Given the description of an element on the screen output the (x, y) to click on. 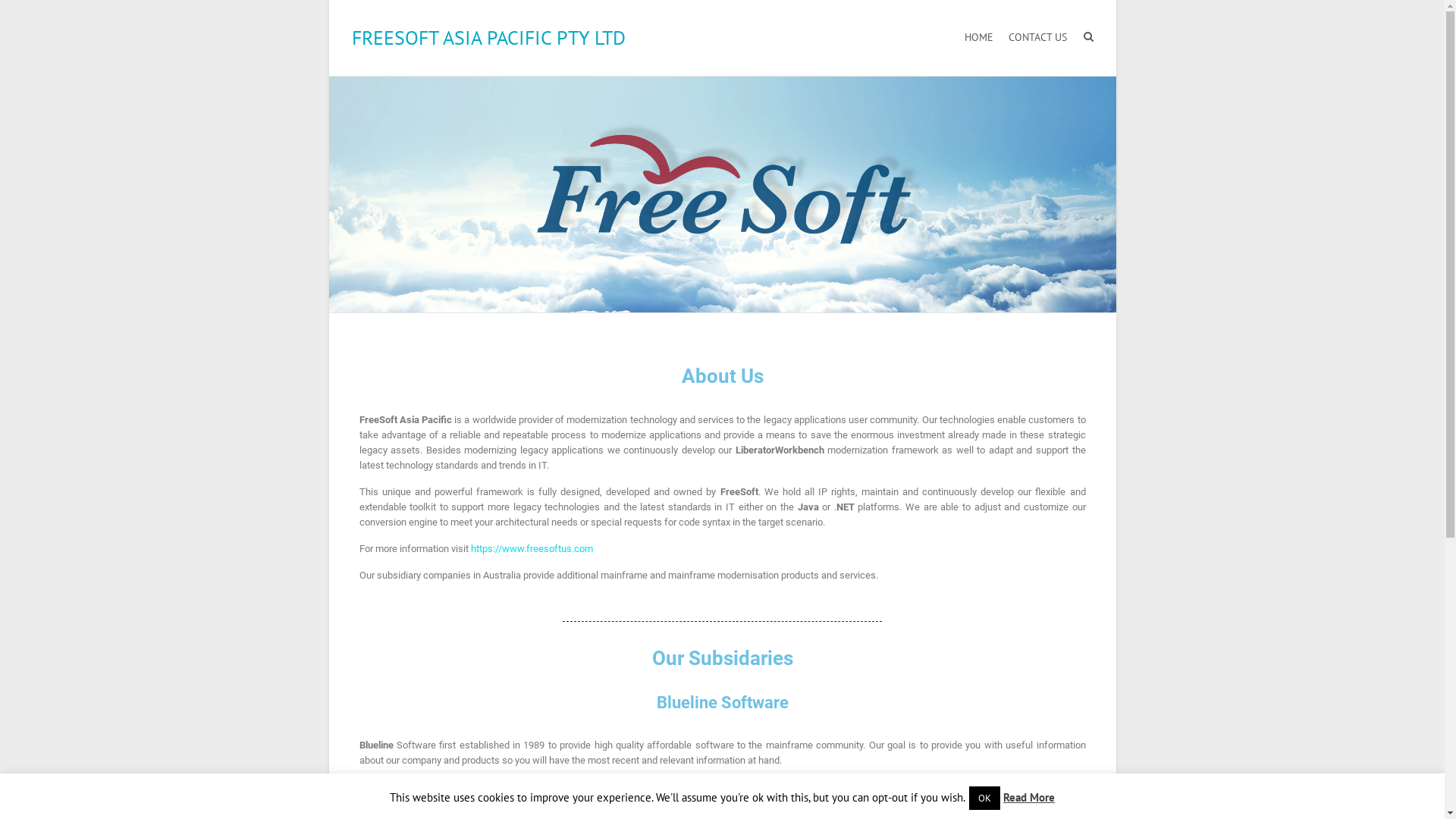
OK Element type: text (984, 797)
Read More Element type: text (1028, 797)
HOME Element type: text (978, 37)
CONTACT US Element type: text (1037, 37)
FREESOFT ASIA PACIFIC PTY LTD Element type: text (488, 37)
https://www.freesoftus.com Element type: text (531, 548)
